Given the description of an element on the screen output the (x, y) to click on. 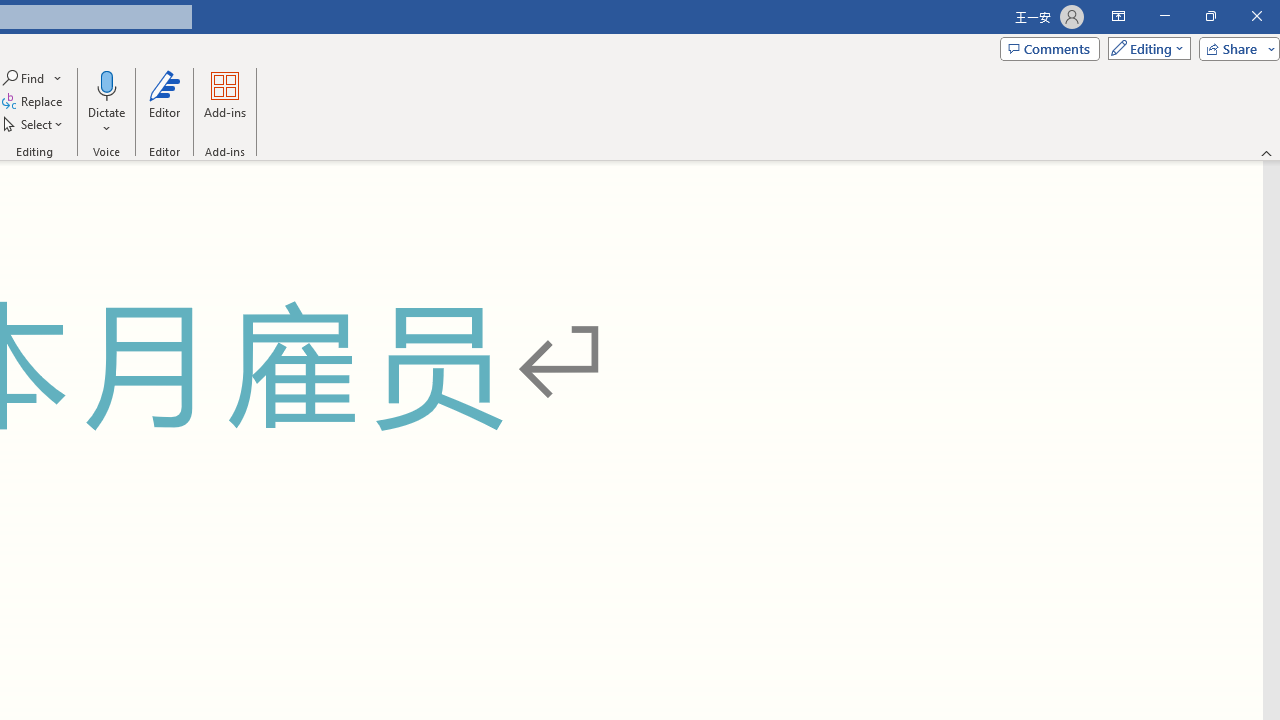
Editing (1144, 47)
